Given the description of an element on the screen output the (x, y) to click on. 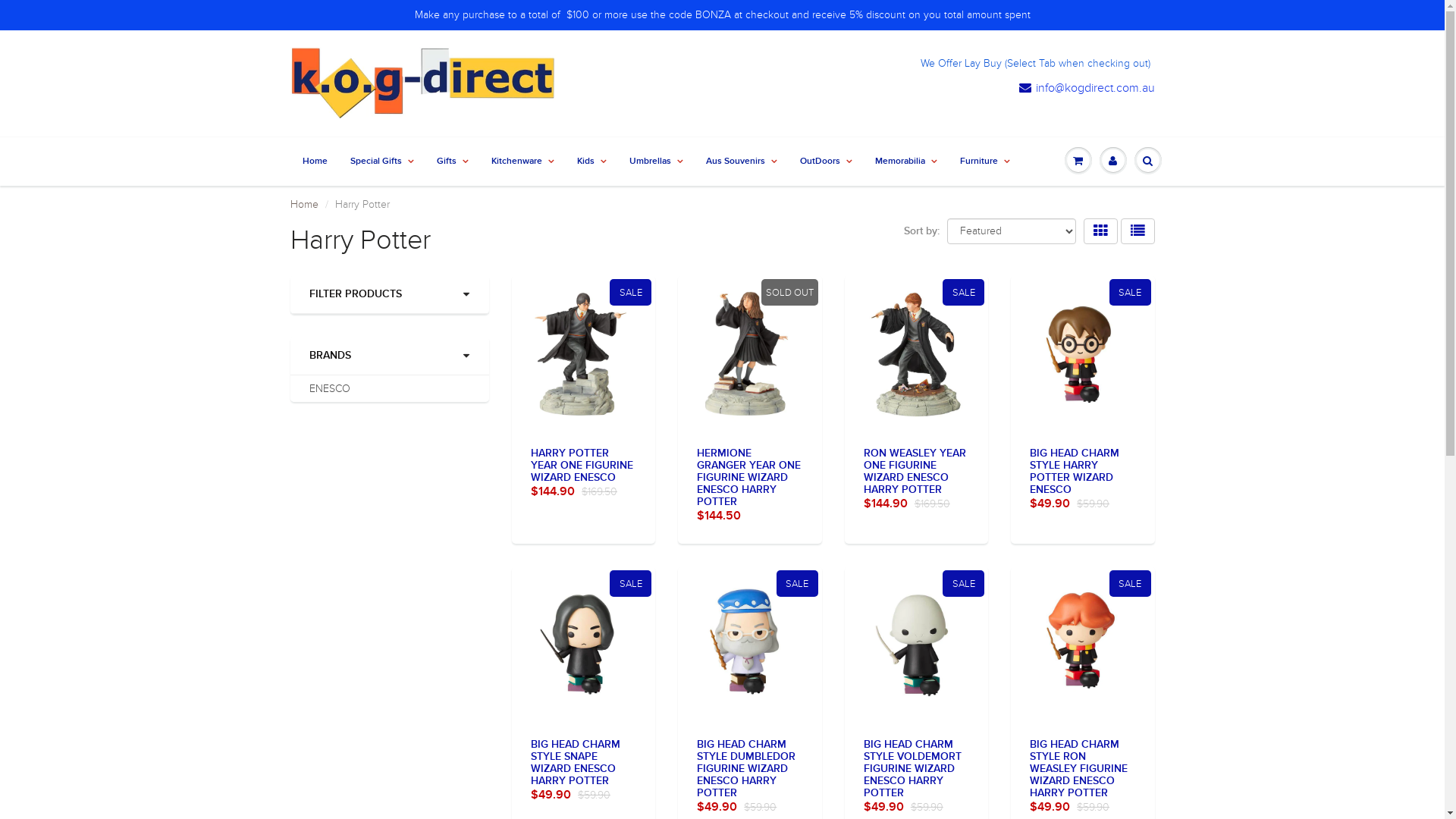
Furniture Element type: text (983, 161)
BRANDS Element type: text (389, 355)
Umbrellas Element type: text (655, 161)
Home Element type: text (314, 161)
ENESCO Element type: text (329, 388)
HARRY POTTER YEAR ONE FIGURINE WIZARD ENESCO Element type: text (581, 465)
Gifts Element type: text (451, 161)
OutDoors Element type: text (825, 161)
BIG HEAD CHARM STYLE SNAPE WIZARD ENESCO HARRY POTTER Element type: text (575, 762)
RON WEASLEY YEAR ONE FIGURINE WIZARD ENESCO HARRY POTTER Element type: text (914, 471)
Aus Souvenirs Element type: text (741, 161)
Grid view Element type: hover (1099, 231)
Kitchenware Element type: text (521, 161)
Home Element type: text (303, 203)
BIG HEAD CHARM STYLE HARRY POTTER WIZARD ENESCO Element type: text (1074, 471)
List View Element type: hover (1137, 231)
info@kogdirect.com.au Element type: text (1086, 88)
FILTER PRODUCTS Element type: text (389, 293)
Memorabilia Element type: text (904, 161)
Kids Element type: text (591, 161)
Special Gifts Element type: text (381, 161)
